Given the description of an element on the screen output the (x, y) to click on. 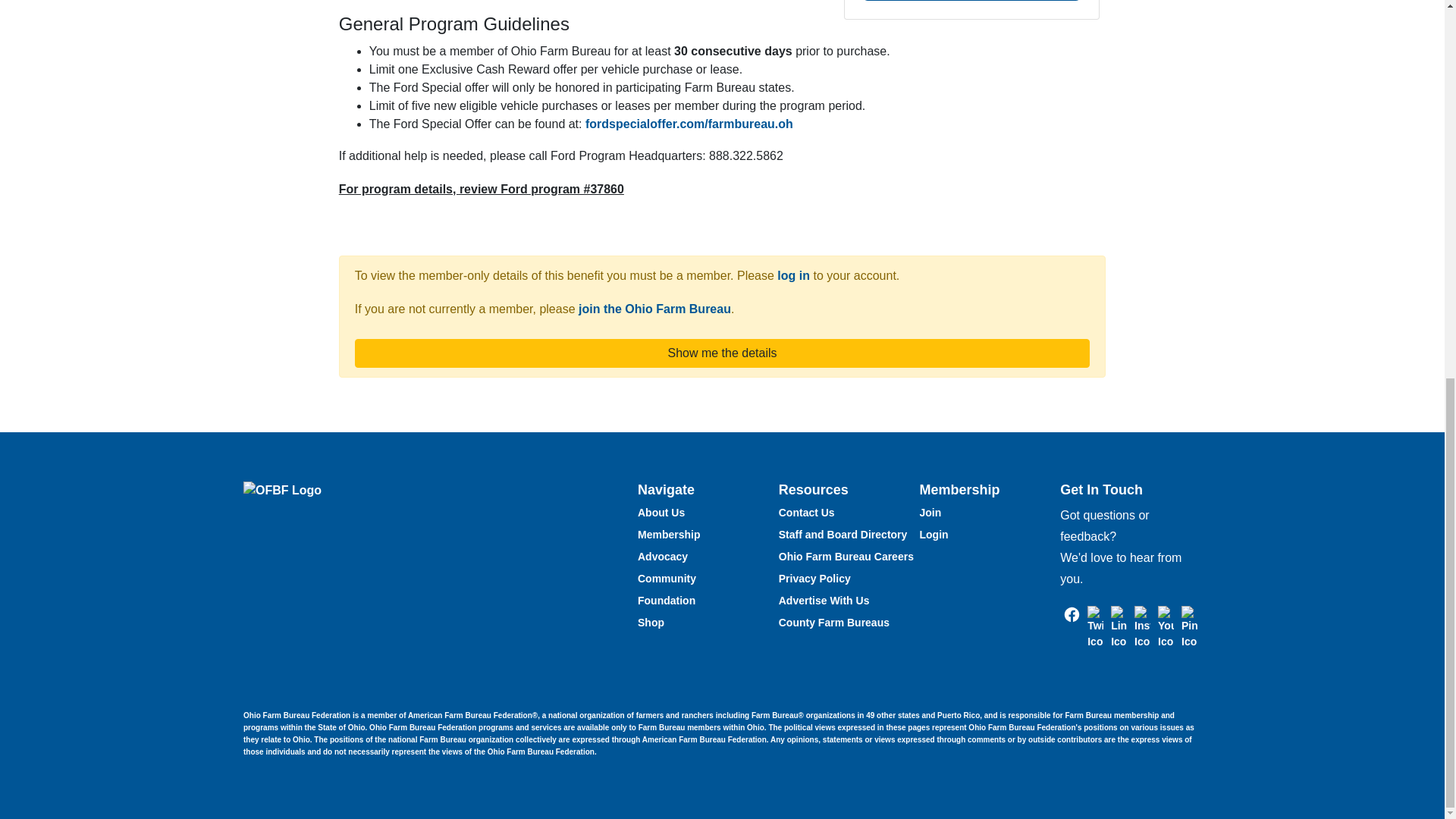
LinkedIn - Ohio Farm Bureau (1118, 626)
YouTube - Ohio Farm Bureau (1165, 626)
Twitter - Ohio Farm Bureau (1095, 626)
Facebook - Ohio Farm Bureau (1072, 613)
Instagram - Ohio Farm Bureau (1142, 626)
Pinterest - Ohio Farm Bureau (1188, 626)
